Given the description of an element on the screen output the (x, y) to click on. 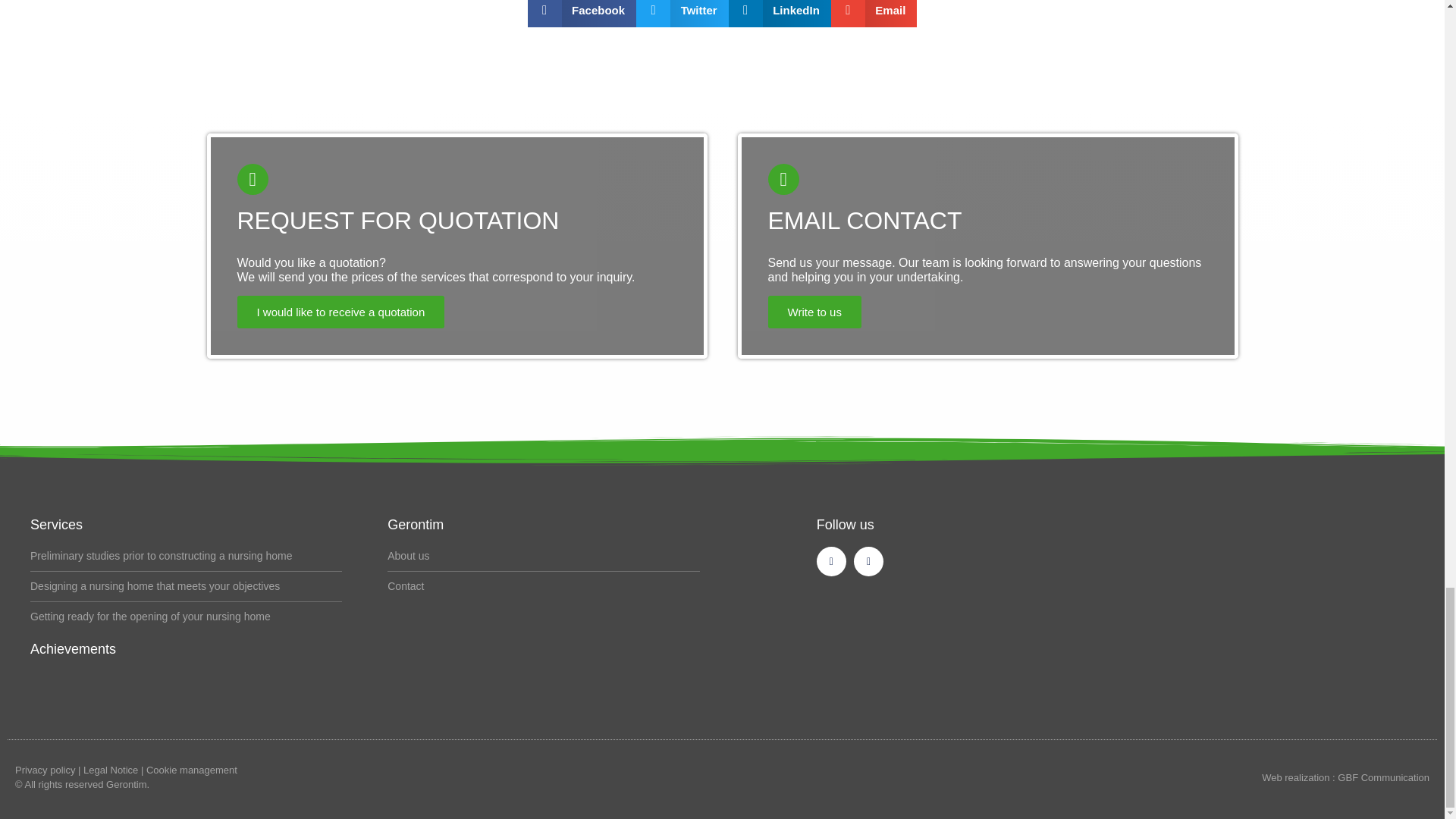
Legal Notice (110, 769)
Services (56, 524)
About us (542, 556)
Cookie management (192, 769)
Getting ready for the opening of your nursing home (186, 617)
Preliminary studies prior to constructing a nursing home (186, 556)
Privacy policy (44, 769)
GBF Communication (1383, 777)
